Given the description of an element on the screen output the (x, y) to click on. 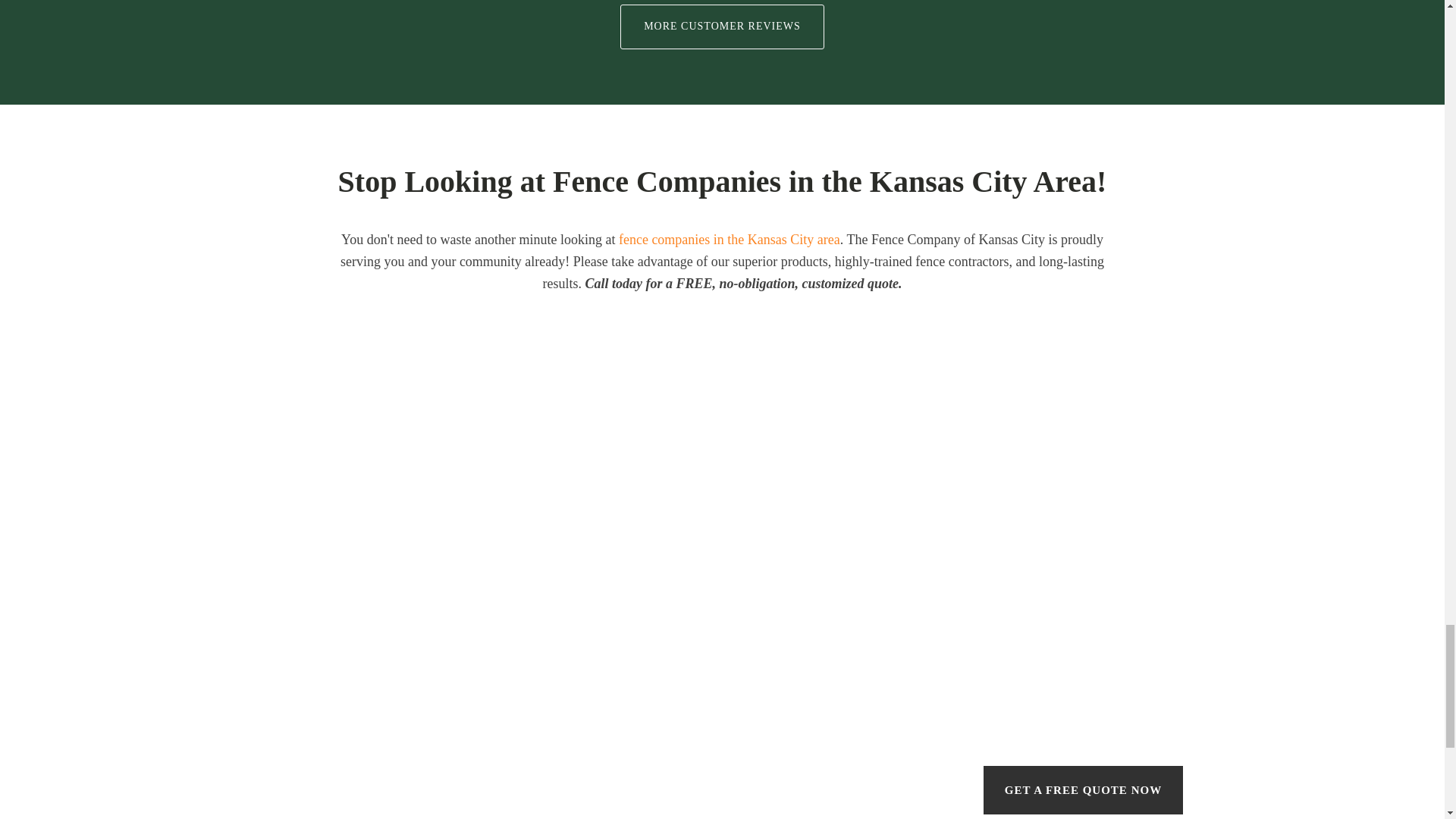
fence companies in the Kansas City area (729, 239)
GET A FREE QUOTE NOW (1083, 789)
MORE CUSTOMER REVIEWS (722, 26)
